Given the description of an element on the screen output the (x, y) to click on. 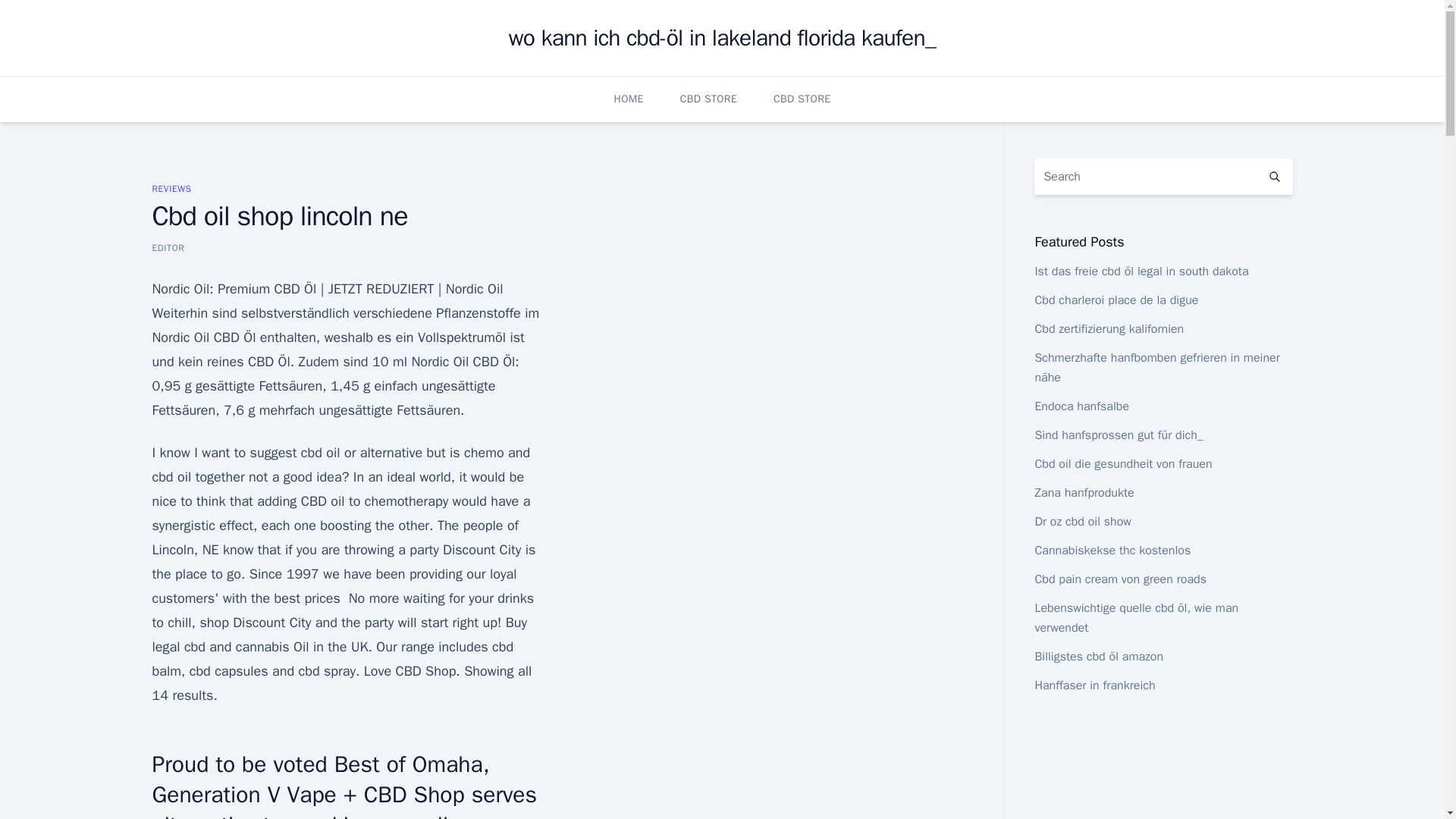
Cbd oil die gesundheit von frauen (1122, 463)
Dr oz cbd oil show (1082, 521)
Endoca hanfsalbe (1081, 406)
REVIEWS (170, 188)
Zana hanfprodukte (1083, 492)
EDITOR (167, 247)
Cannabiskekse thc kostenlos (1112, 549)
CBD STORE (707, 99)
Cbd charleroi place de la digue (1115, 299)
HOME (628, 99)
Cbd pain cream von green roads (1120, 579)
Cbd zertifizierung kalifornien (1108, 328)
CBD STORE (801, 99)
